Given the description of an element on the screen output the (x, y) to click on. 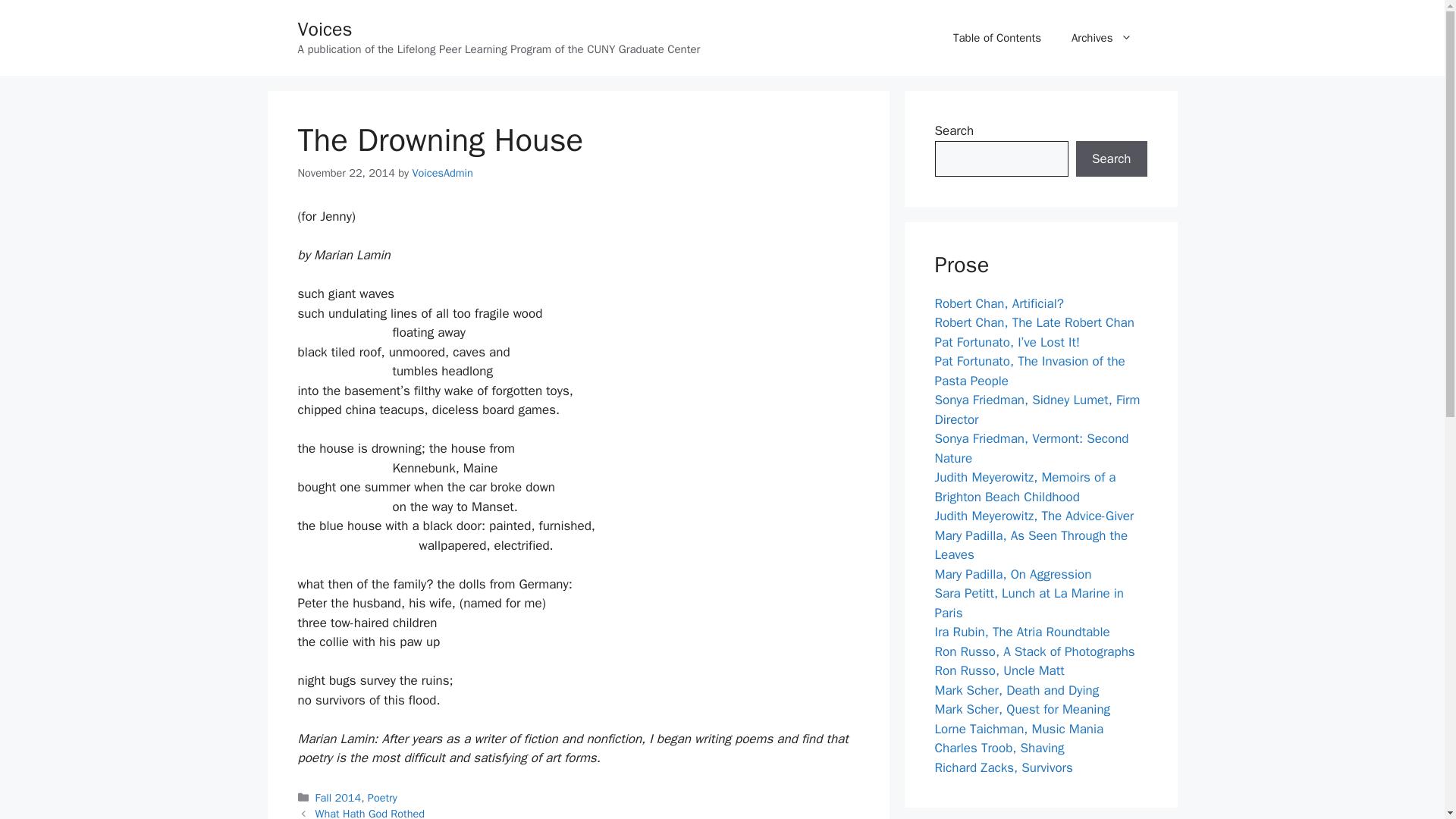
Ron Russo, A Stack of Photographs (1034, 651)
Sonya Friedman, Vermont: Second Nature (1031, 448)
Ron Russo, Uncle Matt (999, 670)
Mark Scher, Death and Dying (1016, 690)
Lunch at Le Marine in Paris (1029, 602)
Artificial? (998, 303)
Archives (1102, 37)
As Seen Through the Leaves (1030, 545)
The Late Robert Chan (1034, 322)
Judith Meyerowitz, Memoirs of a Brighton Beach Childhood (1024, 487)
Mary Padilla, On Aggression (1012, 574)
Robert Chan, Artificial? (998, 303)
Ira Rubin, The Atria Roundtable (1021, 631)
The Atria Roundtable (1021, 631)
Charles Troob, Shaving (999, 747)
